Given the description of an element on the screen output the (x, y) to click on. 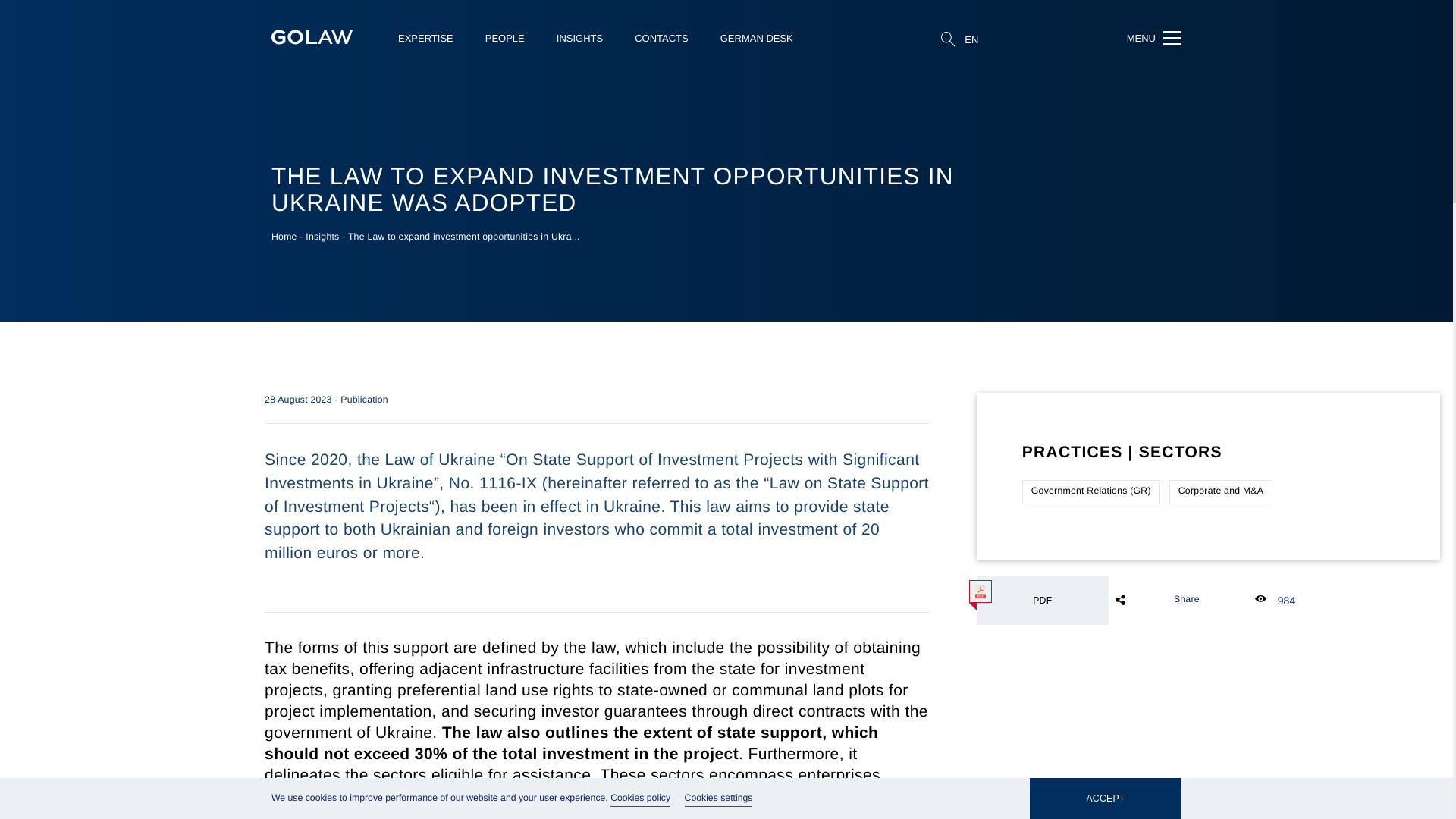
PEOPLE (504, 38)
CONTACTS (661, 38)
PDF (1042, 600)
GERMAN DESK (756, 38)
EXPERTISE (424, 38)
INSIGHTS (579, 38)
Home (283, 235)
Insights (322, 235)
